Given the description of an element on the screen output the (x, y) to click on. 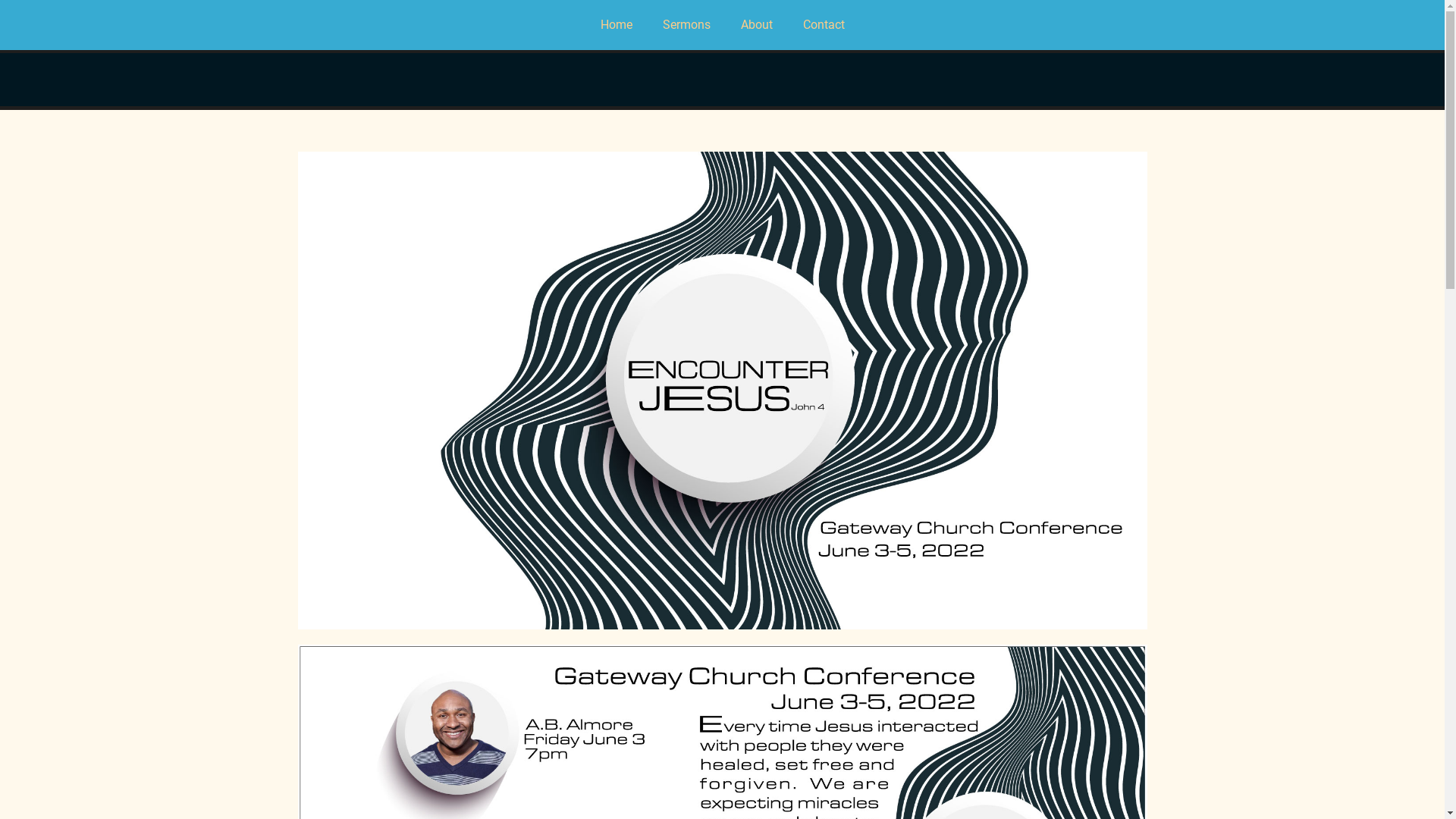
Contact Element type: text (823, 24)
About Element type: text (755, 24)
What' New Element type: text (605, 80)
GIVE Element type: text (1069, 80)
First Time Guest Element type: text (738, 80)
Gateway Church Element type: text (393, 71)
Sermons Element type: text (686, 24)
Home Element type: text (616, 24)
